Given the description of an element on the screen output the (x, y) to click on. 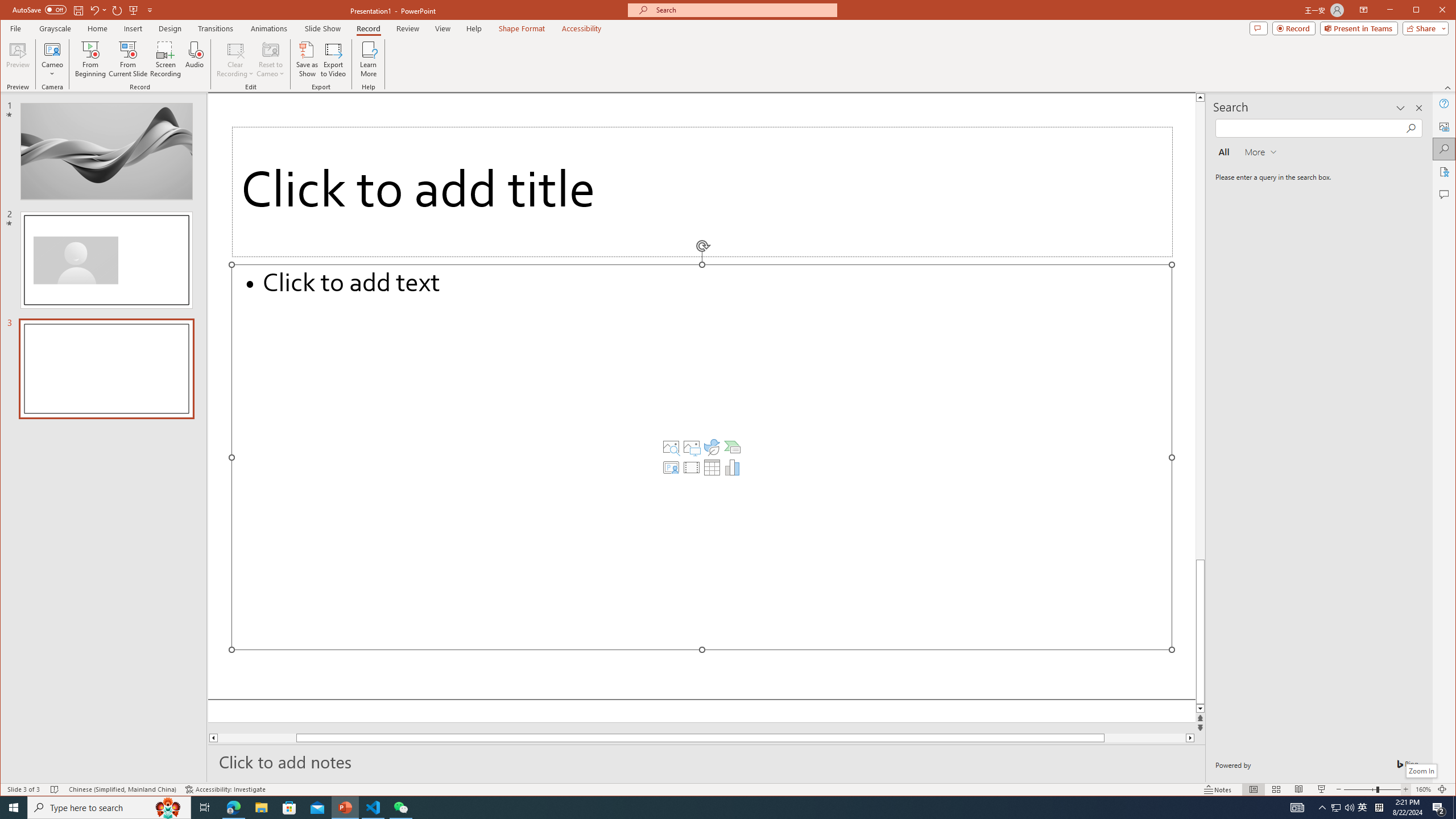
Zoom Out (1359, 789)
Minimize (1419, 11)
Notification Chevron (1322, 807)
Microsoft Store (289, 807)
Collapse the Ribbon (1448, 87)
Microsoft search (742, 10)
Slide Sorter (1276, 789)
Design (170, 28)
Grayscale (55, 28)
Comments (1444, 194)
Screen Recording (165, 59)
View (443, 28)
